Given the description of an element on the screen output the (x, y) to click on. 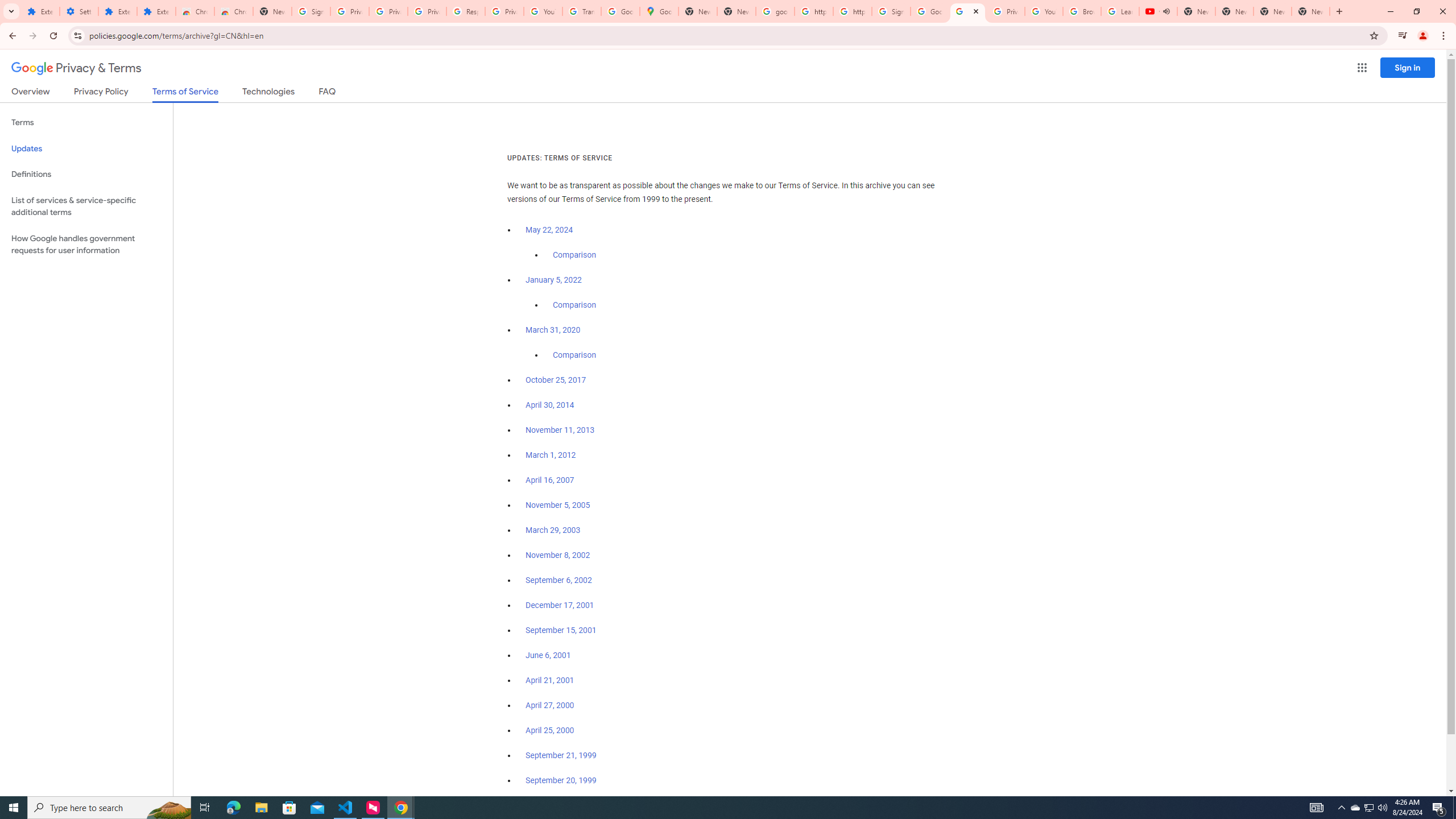
January 5, 2022 (553, 280)
https://scholar.google.com/ (852, 11)
October 25, 2017 (555, 380)
New Tab (272, 11)
Chrome Web Store - Themes (233, 11)
YouTube (1043, 11)
November 11, 2013 (560, 430)
April 30, 2014 (550, 405)
Definitions (86, 174)
